Given the description of an element on the screen output the (x, y) to click on. 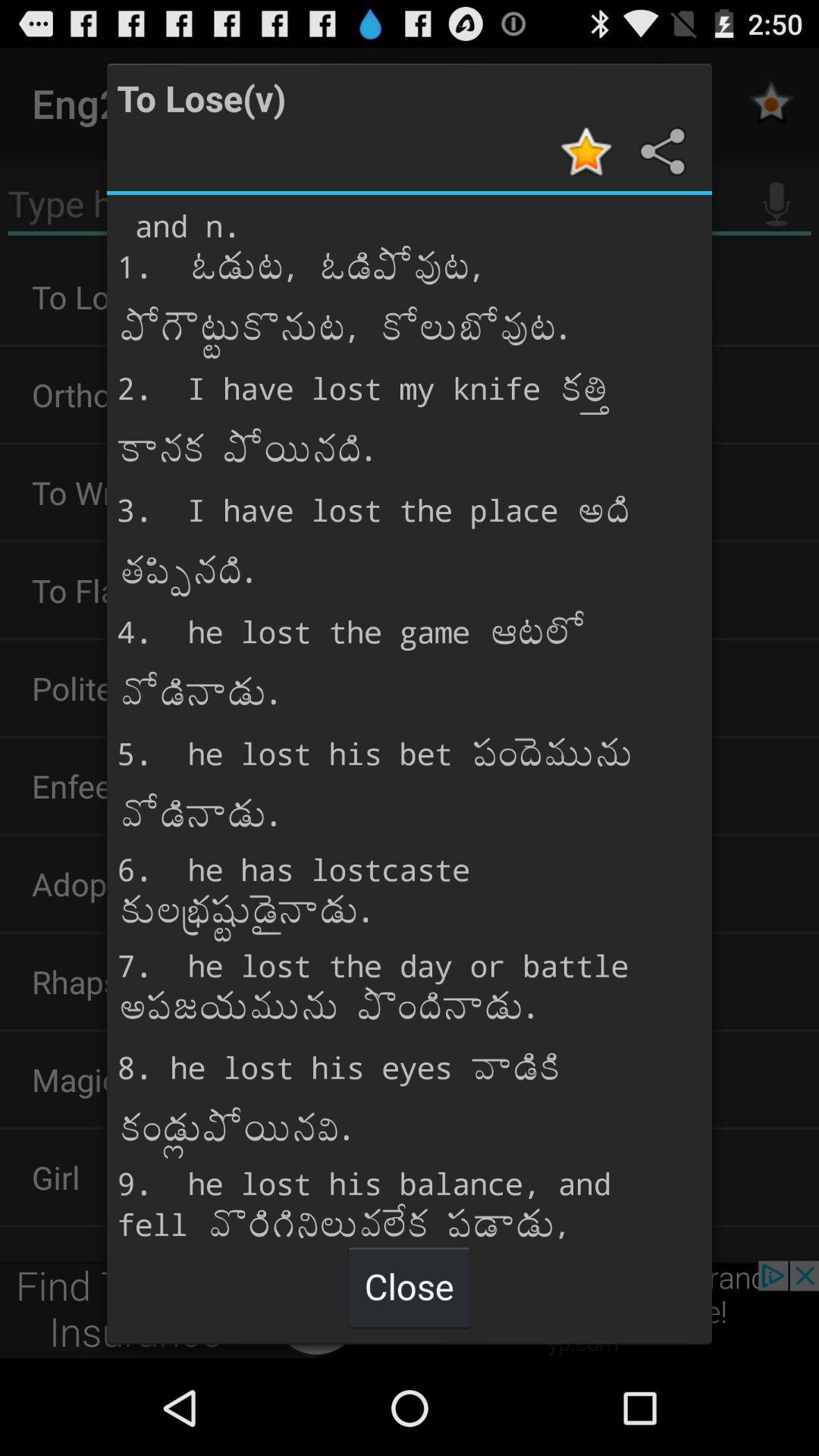
add to favorites (588, 151)
